Given the description of an element on the screen output the (x, y) to click on. 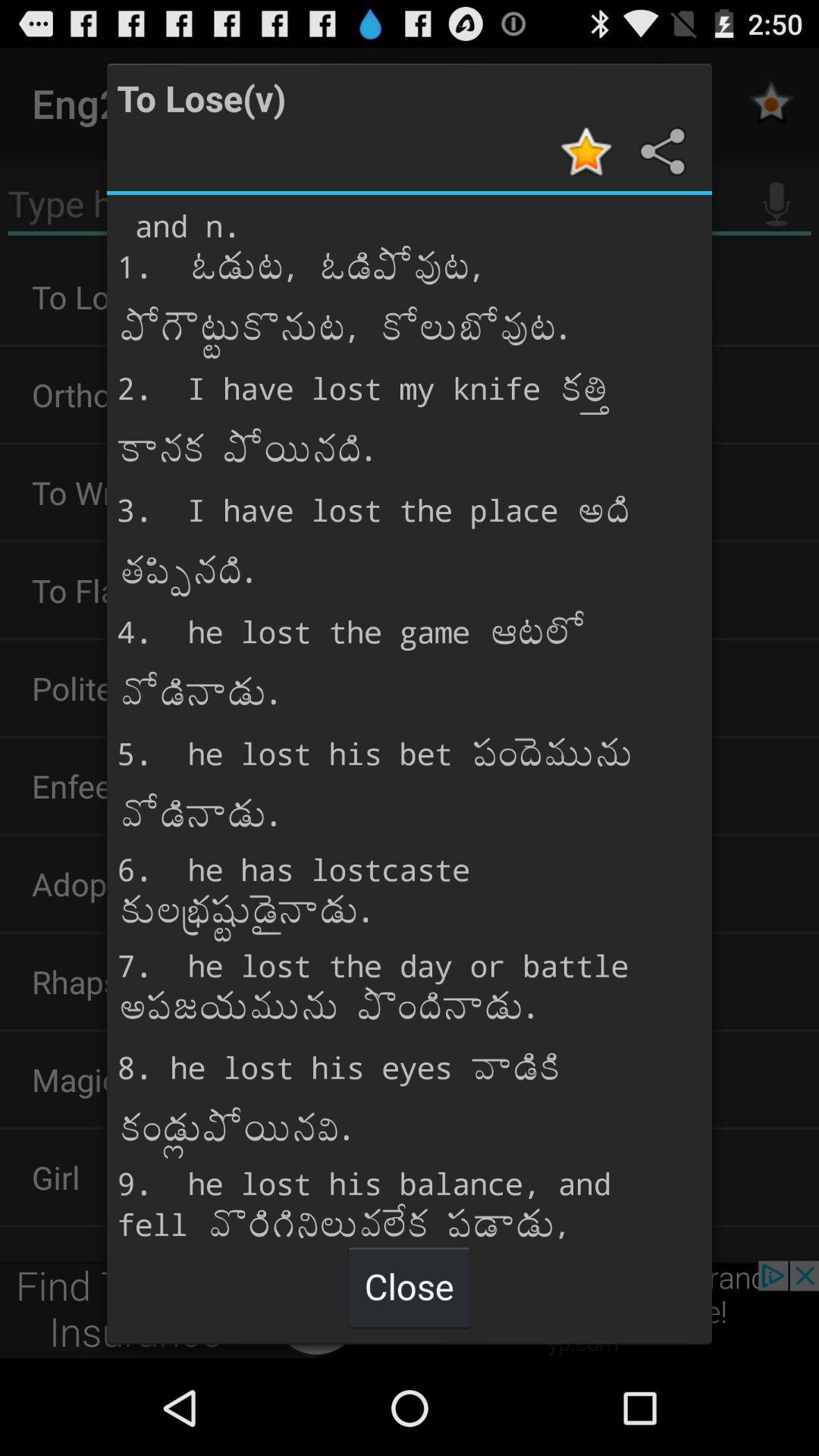
add to favorites (588, 151)
